Given the description of an element on the screen output the (x, y) to click on. 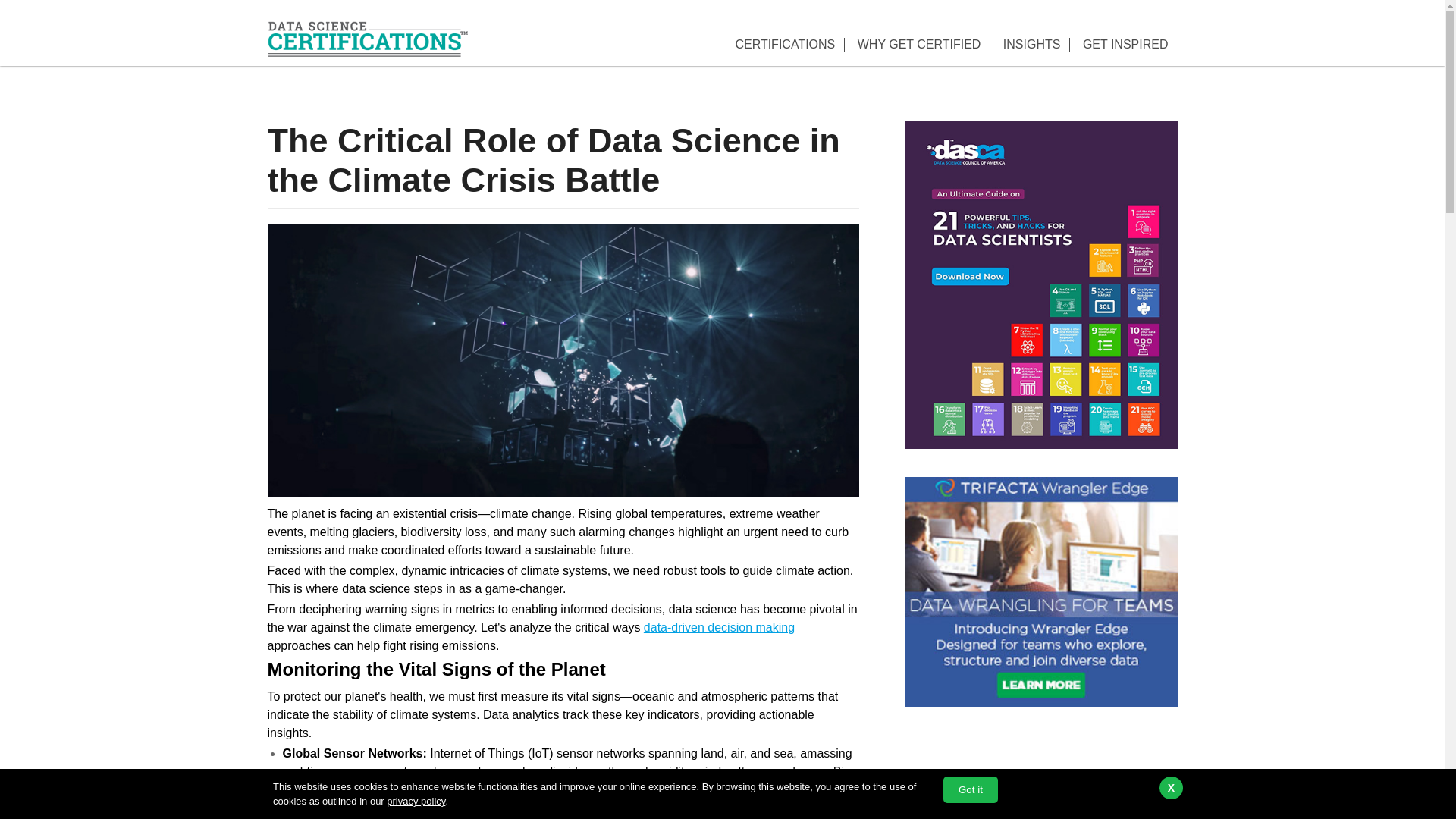
WHY GET CERTIFIED (919, 44)
Get Inspired (1125, 44)
Certifications (784, 44)
privacy policy (416, 800)
CERTIFICATIONS (784, 44)
Insights (1032, 44)
Wrangler Edge (1040, 591)
GET INSPIRED (1125, 44)
Why Get Certified (919, 44)
